Given the description of an element on the screen output the (x, y) to click on. 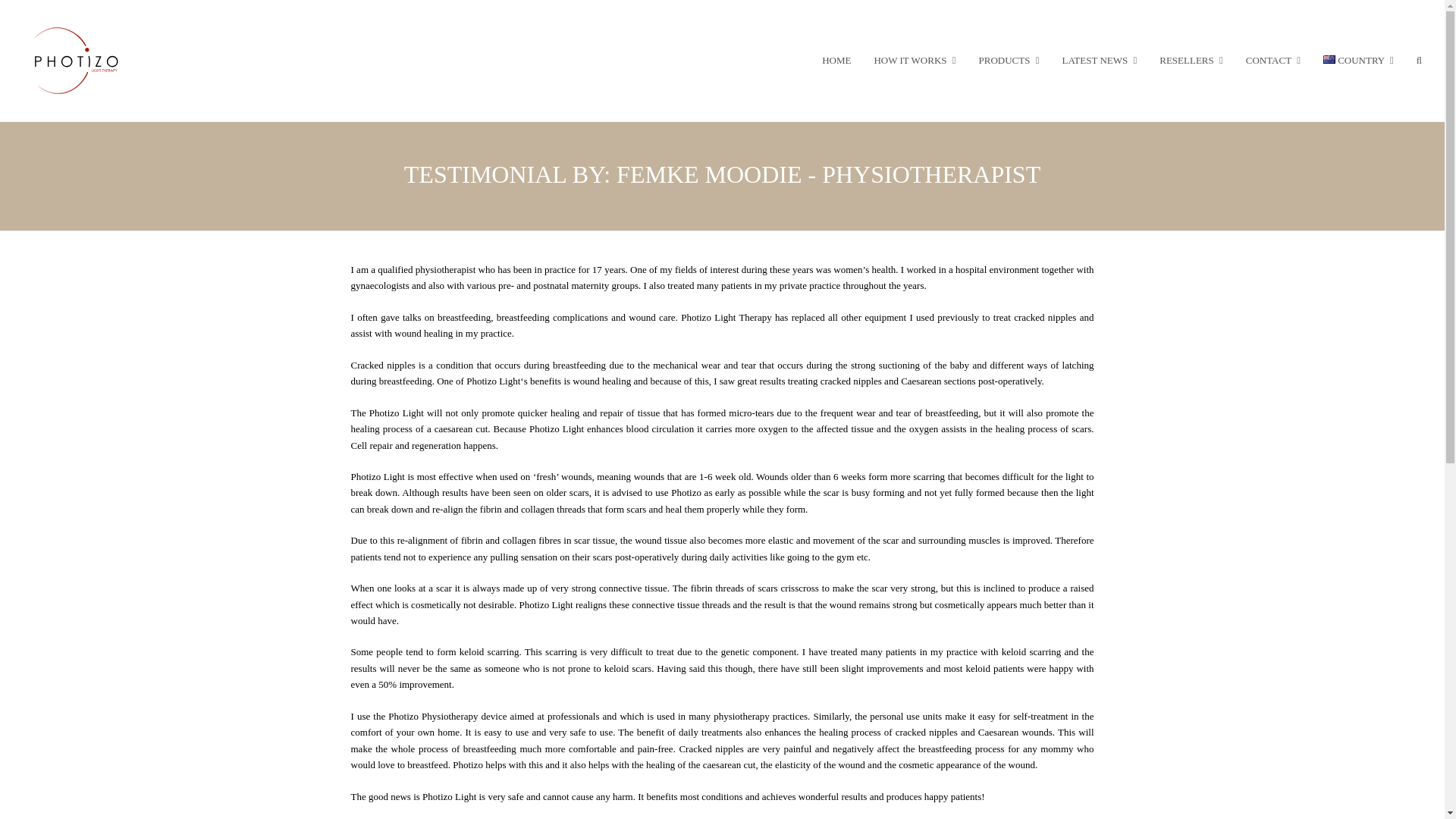
COUNTRY (1358, 60)
LATEST NEWS (1098, 60)
HOME (835, 60)
HOW IT WORKS (913, 60)
New Zealand (1329, 59)
CONTACT (1272, 60)
PRODUCTS (1009, 60)
RESELLERS (1191, 60)
